Given the description of an element on the screen output the (x, y) to click on. 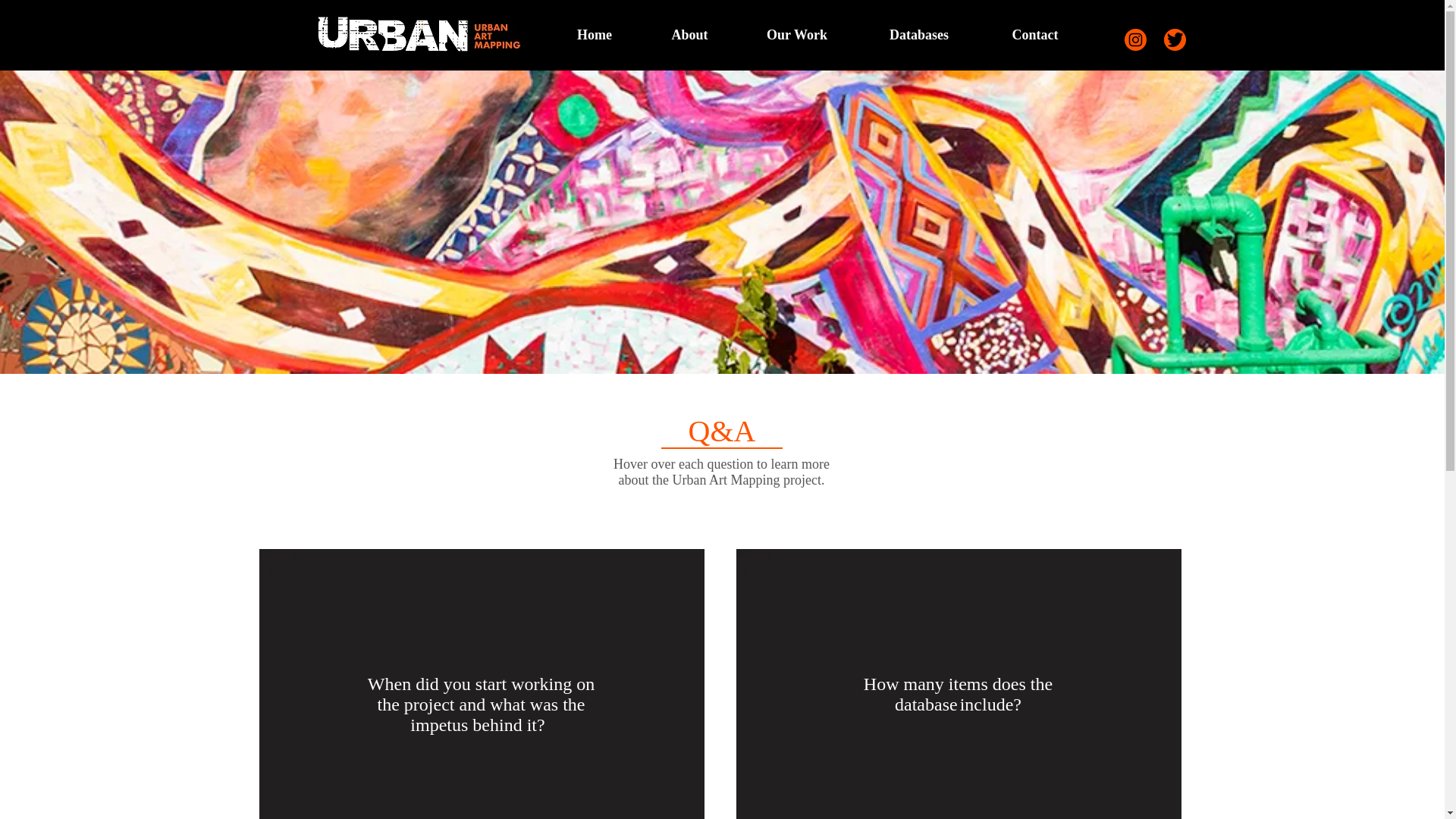
Contact (1034, 35)
Home (594, 35)
